Given the description of an element on the screen output the (x, y) to click on. 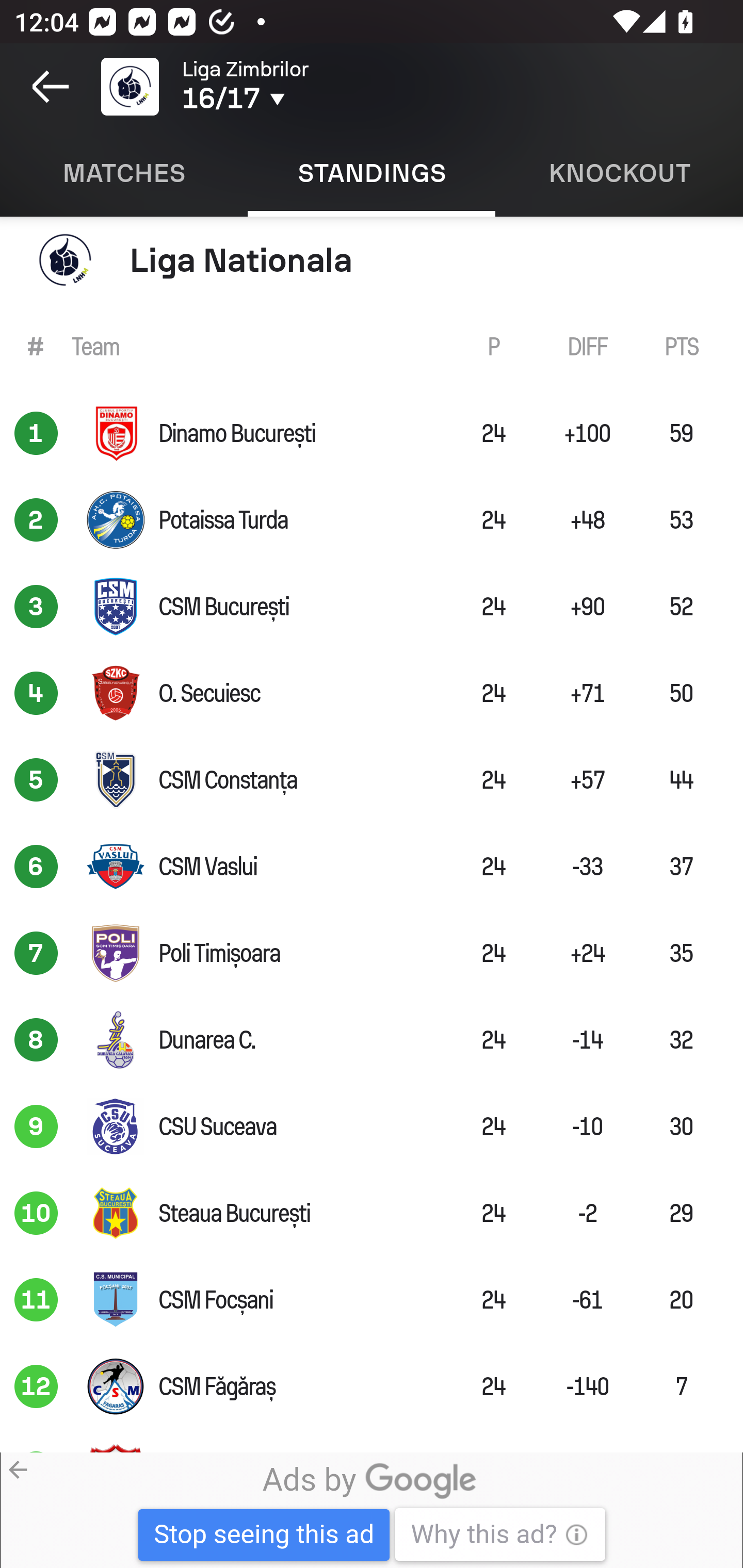
Navigate up (50, 86)
16/17 (300, 98)
Matches MATCHES (123, 173)
Knockout KNOCKOUT (619, 173)
Liga Nationala (371, 259)
# Team P DIFF PTS (371, 346)
1 Dinamo București 24 +100 59 (371, 433)
1 (36, 433)
2 Potaissa Turda 24 +48 53 (371, 519)
2 (36, 519)
3 CSM București 24 +90 52 (371, 605)
3 (36, 605)
4 O. Secuiesc 24 +71 50 (371, 692)
4 (36, 692)
5 CSM Constanța  24 +57 44 (371, 779)
5 (36, 779)
6 CSM Vaslui 24 -33 37 (371, 866)
6 (36, 866)
7 Poli Timișoara 24 +24 35 (371, 953)
7 (36, 953)
8 Dunarea C. 24 -14 32 (371, 1040)
8 (36, 1040)
9 CSU Suceava 24 -10 30 (371, 1126)
9 (36, 1126)
10 Steaua București 24 -2 29 (371, 1212)
10 (36, 1212)
11 CSM Focșani 24 -61 20 (371, 1299)
11 (36, 1299)
12 CSM Făgăraș 24 -140 7 (371, 1386)
12 (36, 1386)
